Given the description of an element on the screen output the (x, y) to click on. 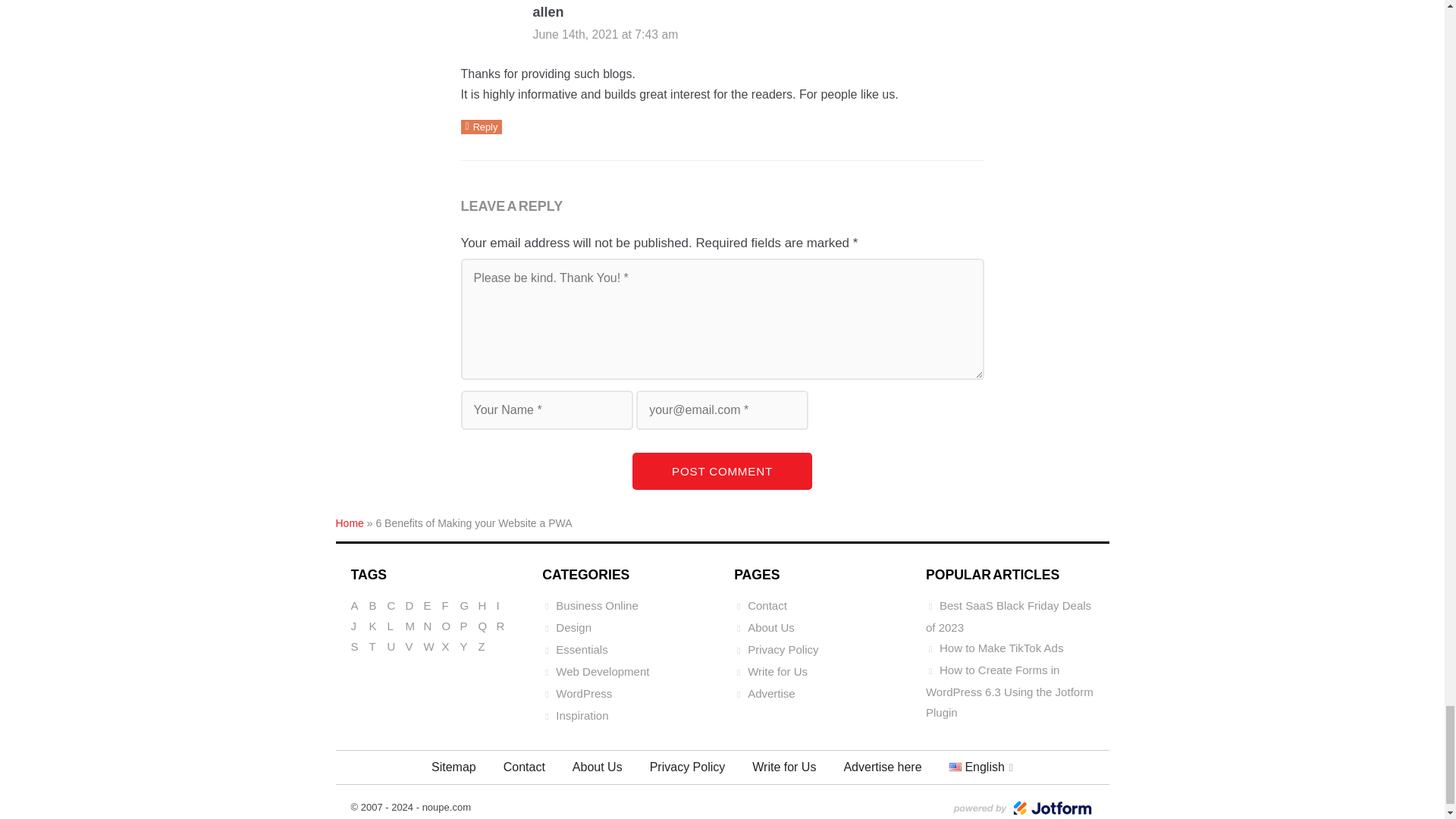
Post Comment (721, 470)
Post Comment (721, 470)
Reply (481, 126)
June 14th, 2021 at 7:43 am (605, 33)
Home (348, 522)
